Given the description of an element on the screen output the (x, y) to click on. 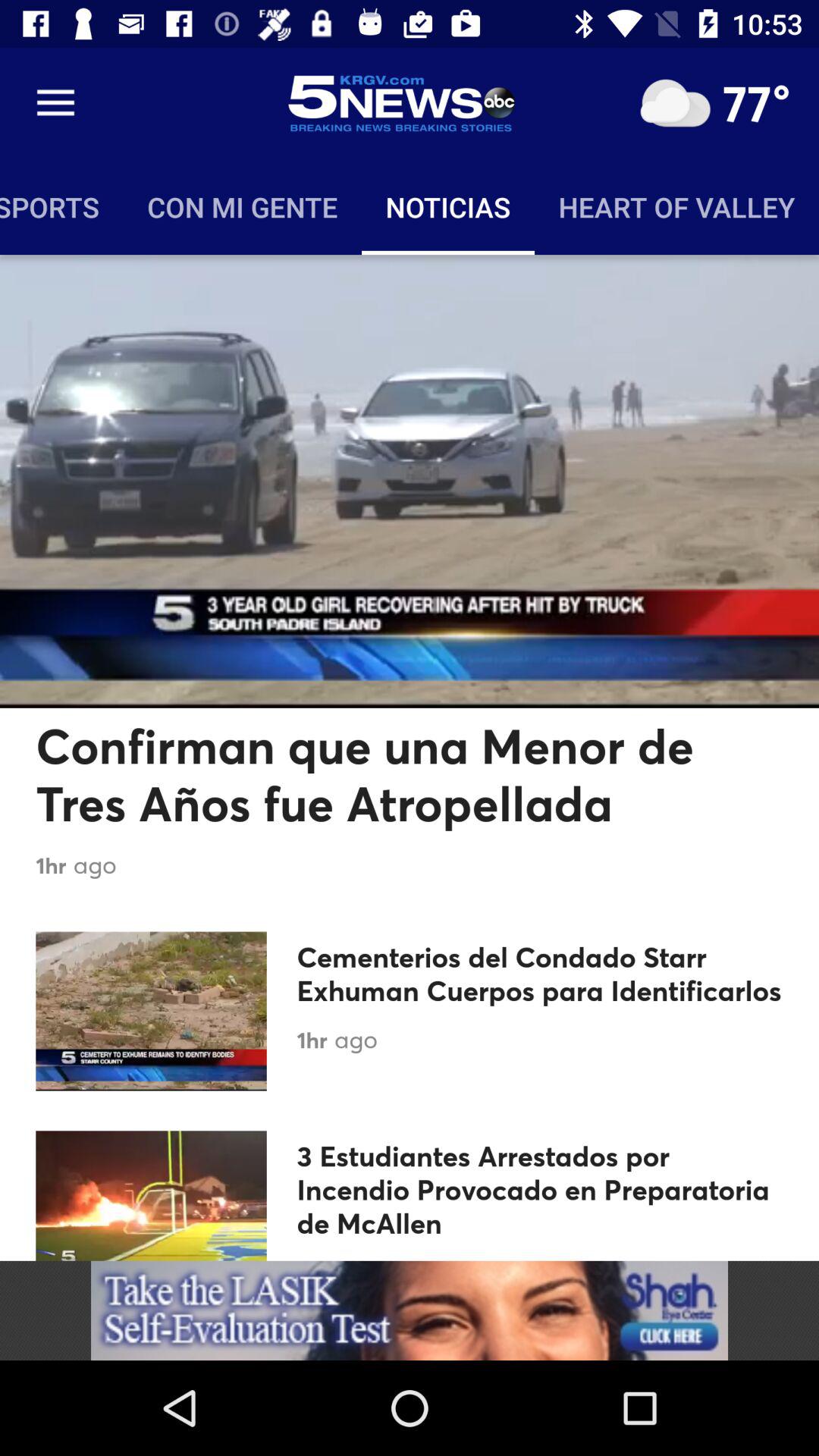
advertisement (409, 1310)
